Given the description of an element on the screen output the (x, y) to click on. 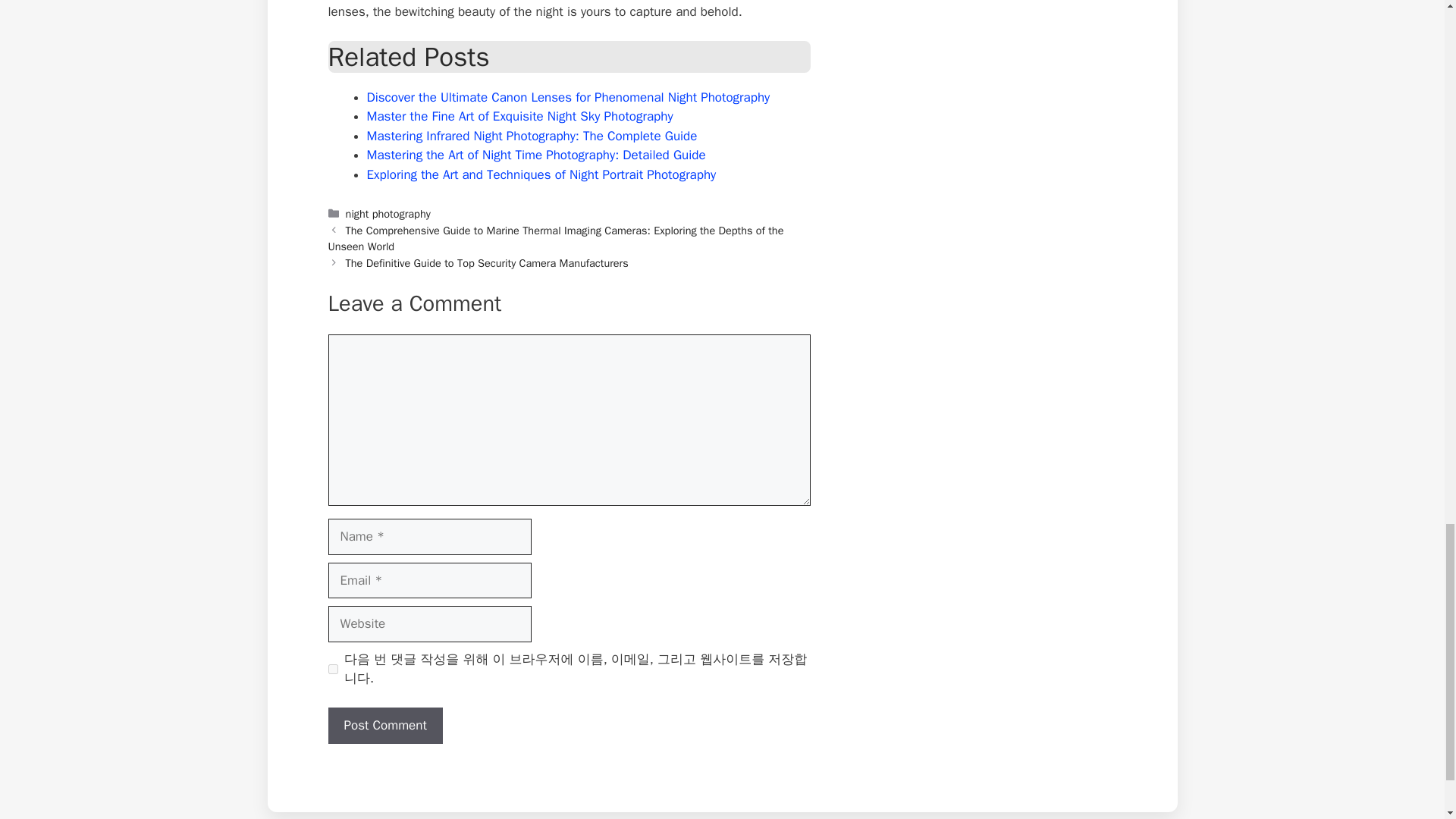
yes (332, 669)
Master the Fine Art of Exquisite Night Sky Photography (519, 116)
Post Comment (384, 725)
Post Comment (384, 725)
The Definitive Guide to Top Security Camera Manufacturers (487, 263)
Mastering the Art of Night Time Photography: Detailed Guide (536, 154)
Mastering Infrared Night Photography: The Complete Guide (531, 135)
night photography (388, 213)
